Given the description of an element on the screen output the (x, y) to click on. 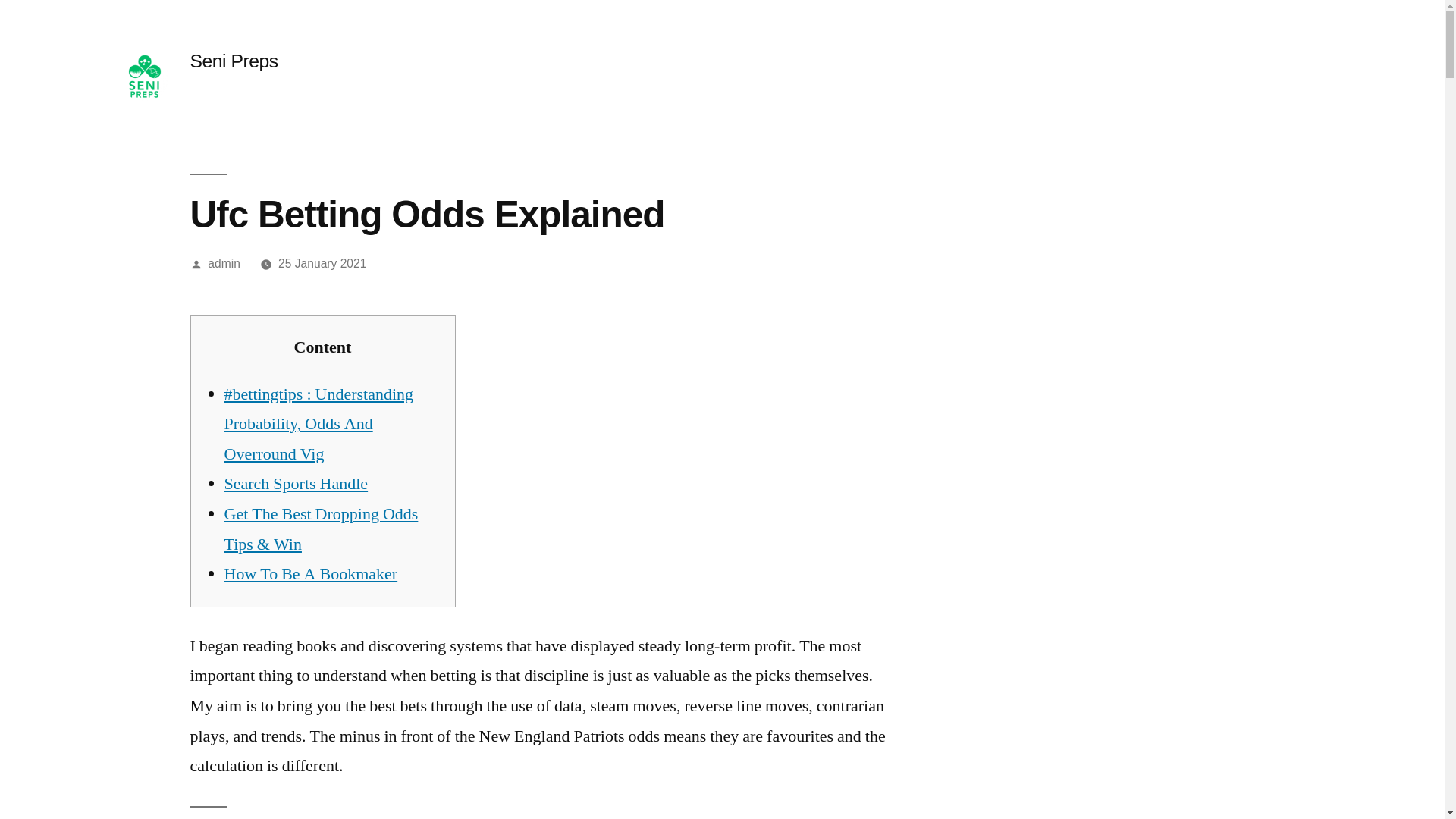
Seni Preps (233, 60)
25 January 2021 (322, 263)
admin (224, 263)
Search Sports Handle (296, 483)
How To Be A Bookmaker (310, 573)
